Given the description of an element on the screen output the (x, y) to click on. 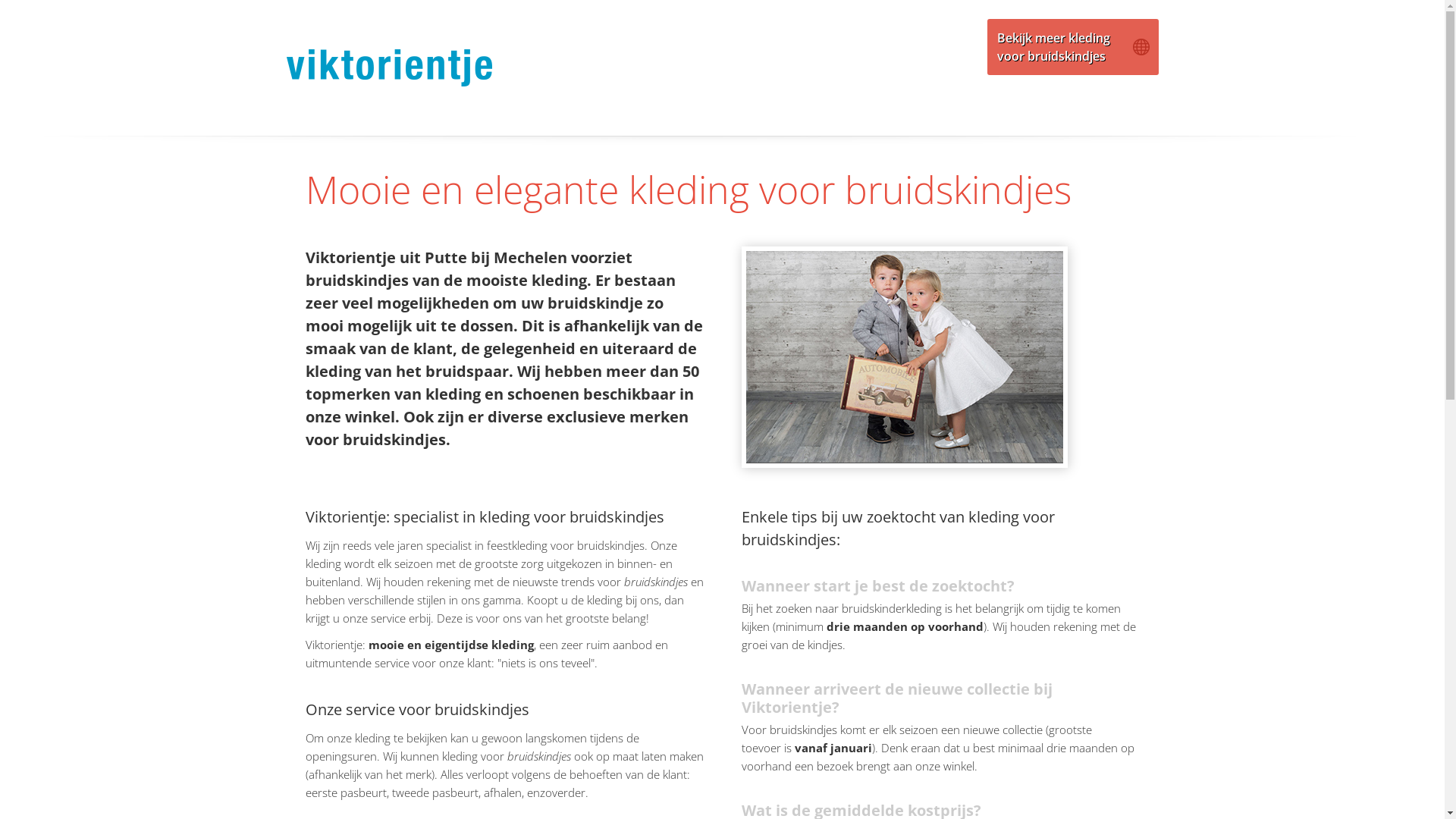
Bekijk meer kleding
voor bruidskindjes Element type: text (1072, 46)
